Given the description of an element on the screen output the (x, y) to click on. 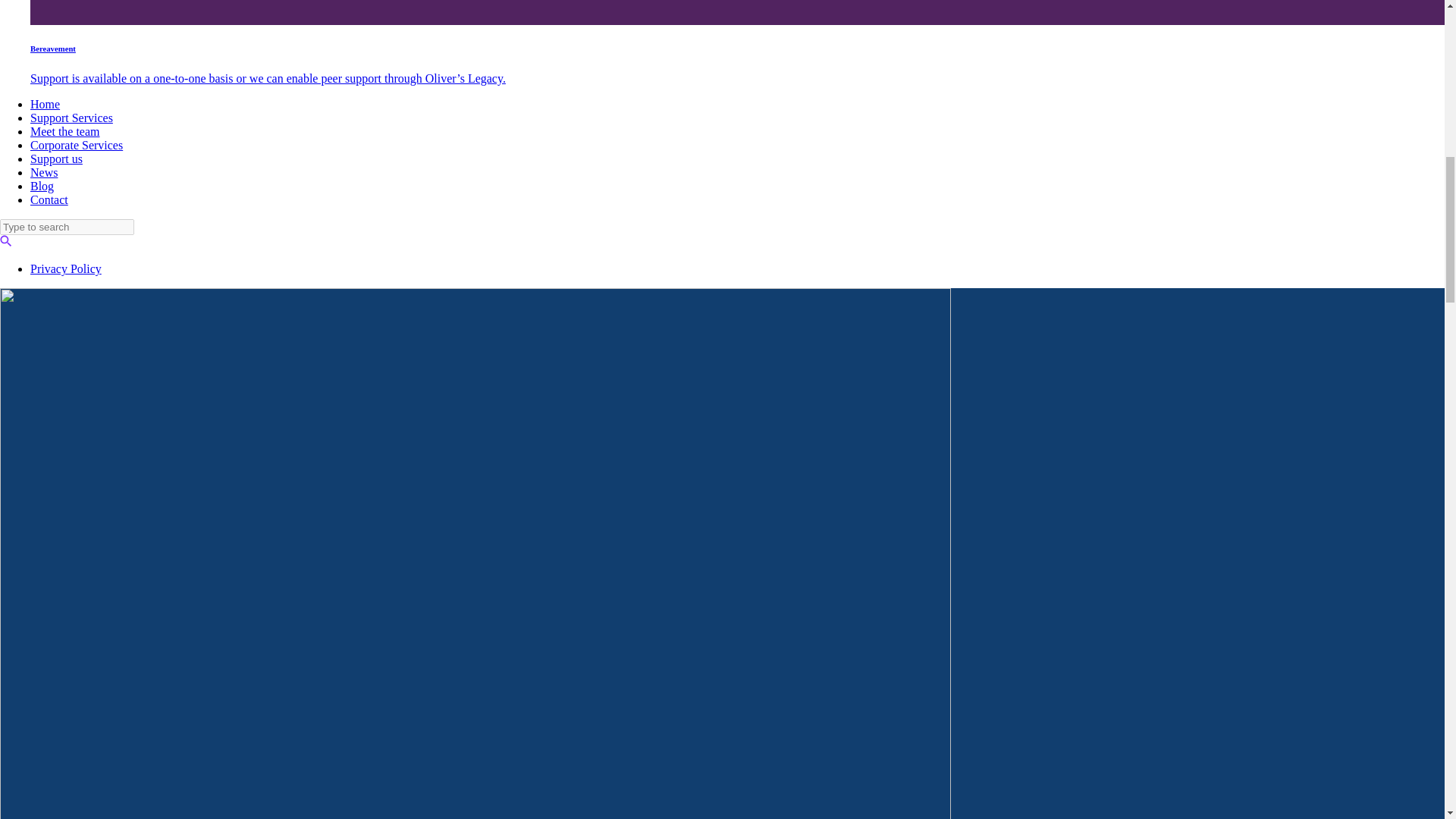
Support Services (71, 117)
Home (44, 103)
News (44, 172)
Meet the team (65, 131)
Privacy Policy (65, 268)
Corporate Services (76, 144)
Contact (49, 199)
Support us (56, 158)
Blog (41, 185)
